Given the description of an element on the screen output the (x, y) to click on. 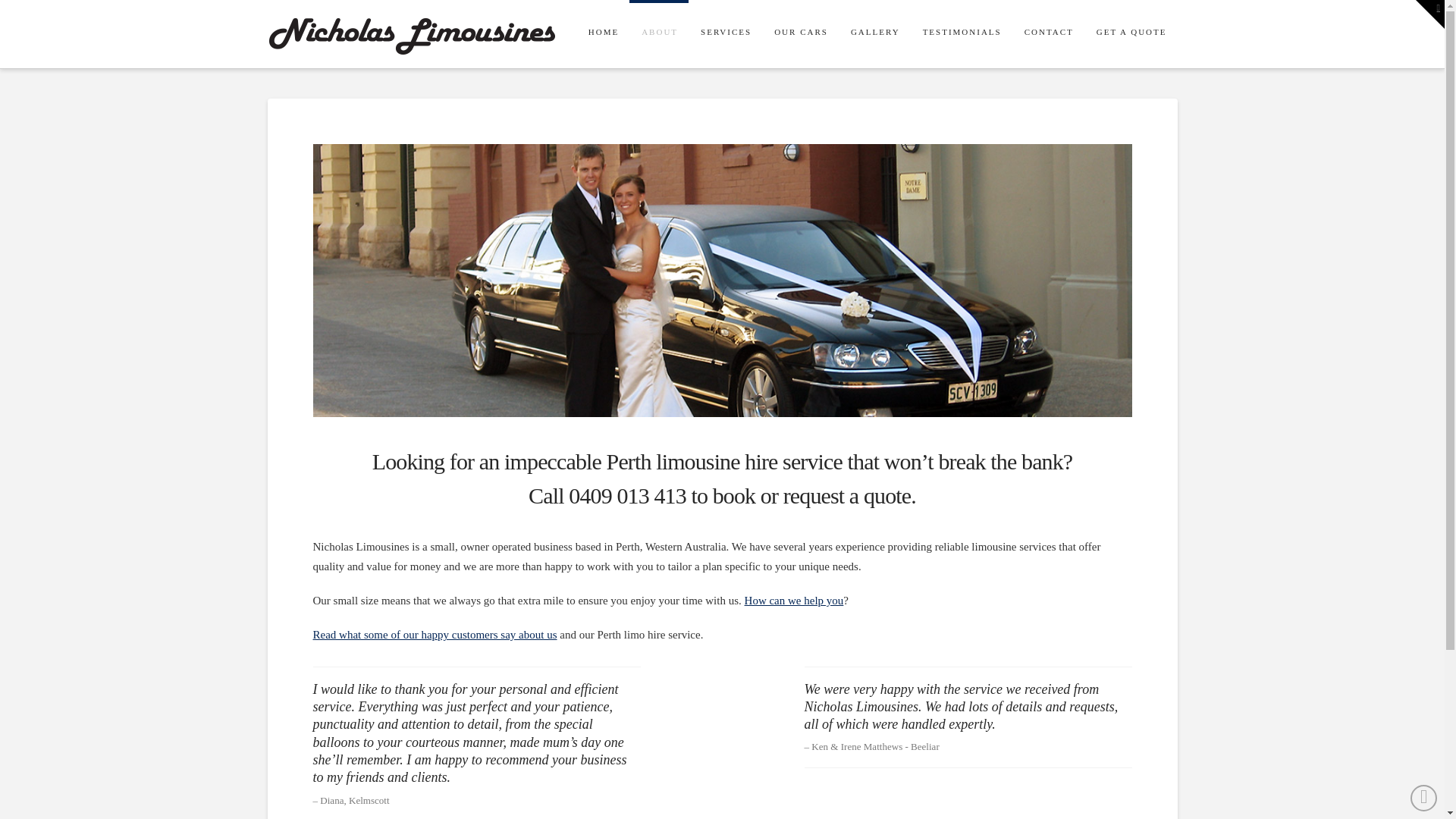
Back to Top Element type: hover (1423, 797)
GET A QUOTE Element type: text (1130, 34)
SERVICES Element type: text (725, 34)
OUR CARS Element type: text (800, 34)
GALLERY Element type: text (874, 34)
TESTIMONIALS Element type: text (961, 34)
CONTACT Element type: text (1048, 34)
Toggle the Widgetbar Element type: text (1429, 14)
HOME Element type: text (602, 34)
Read what some of our happy customers say about us Element type: text (434, 634)
ABOUT Element type: text (658, 34)
How can we help you Element type: text (794, 600)
